Given the description of an element on the screen output the (x, y) to click on. 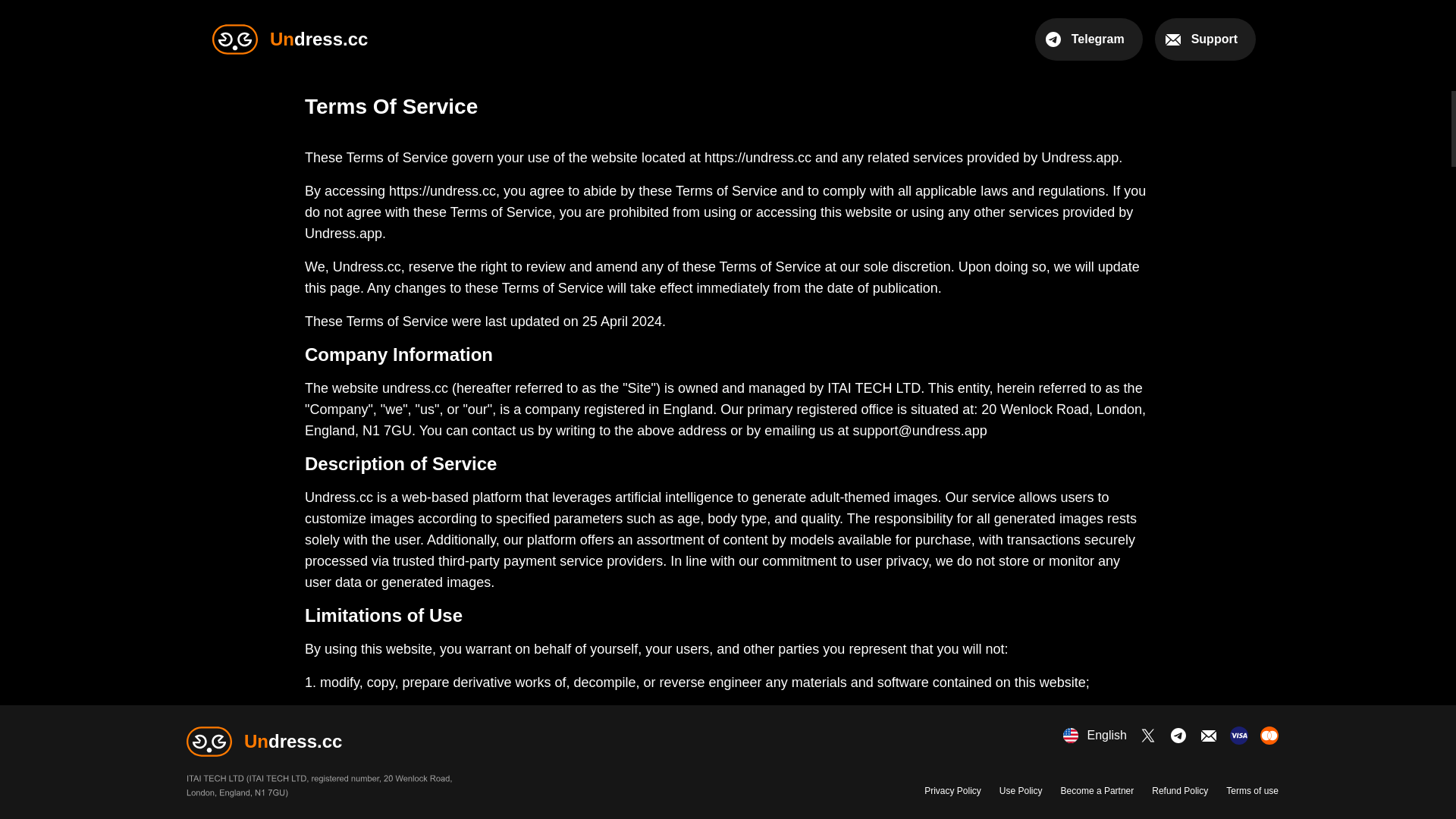
Terms of use (1251, 790)
Telegram (1088, 39)
Support (1204, 39)
Become a Partner (1097, 790)
Undress.cc (318, 741)
Refund Policy (1179, 790)
Undress.cc (290, 39)
English (1094, 735)
Use Policy (1020, 790)
Privacy Policy (952, 790)
